Given the description of an element on the screen output the (x, y) to click on. 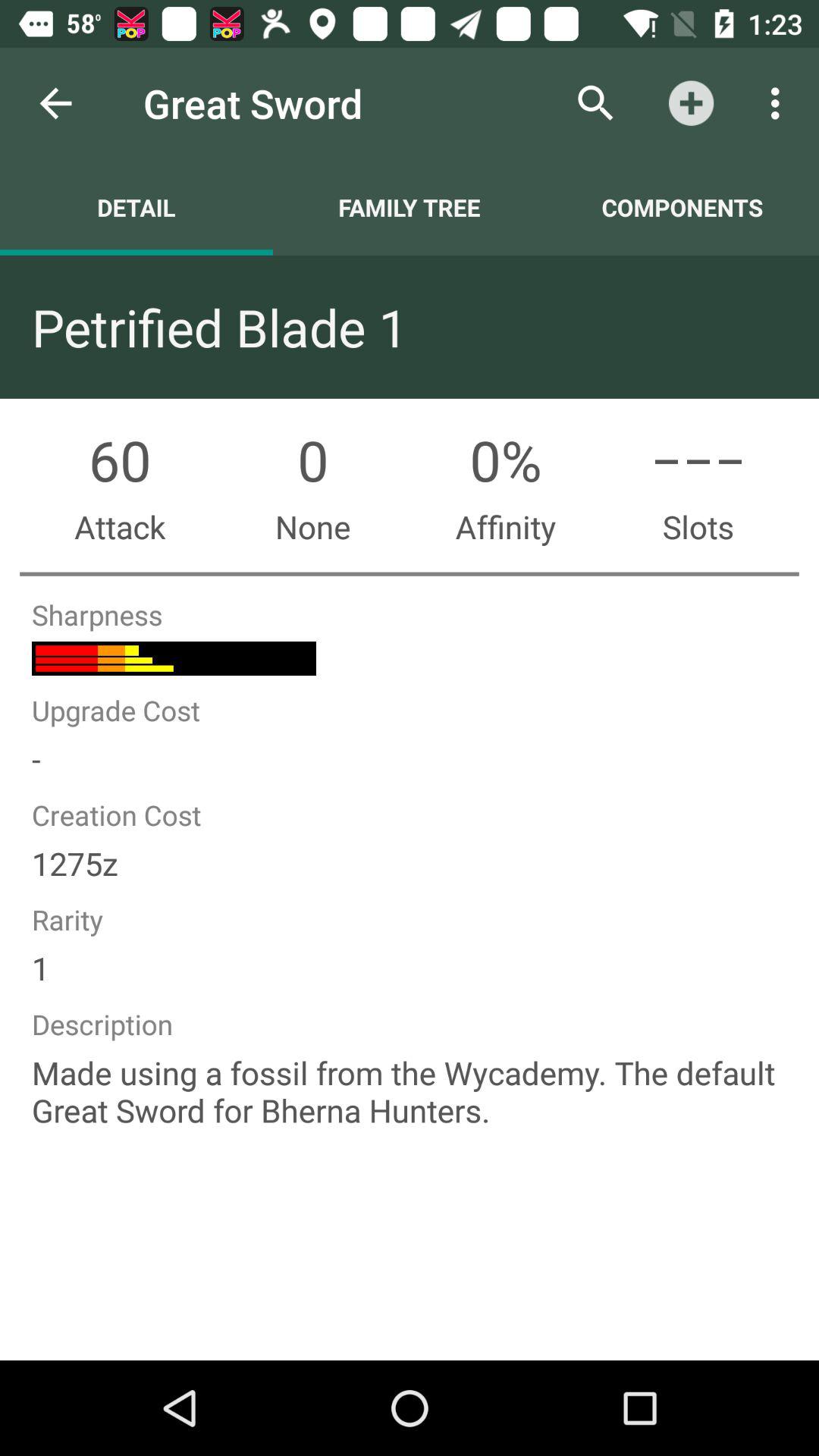
turn off the components app (682, 207)
